Given the description of an element on the screen output the (x, y) to click on. 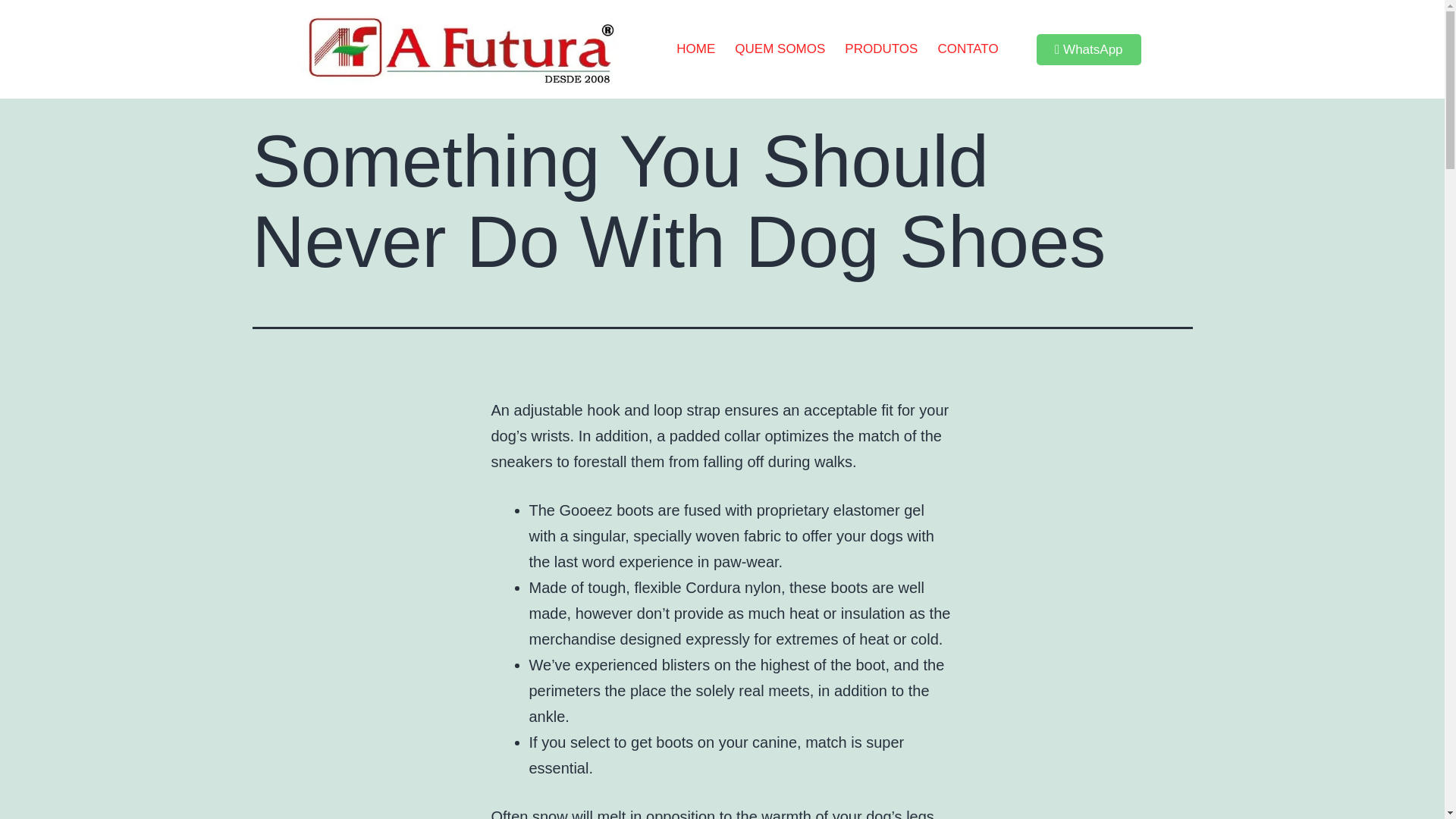
CONTATO (967, 48)
HOME (695, 48)
PRODUTOS (880, 48)
QUEM SOMOS (779, 48)
WhatsApp (1088, 49)
